Given the description of an element on the screen output the (x, y) to click on. 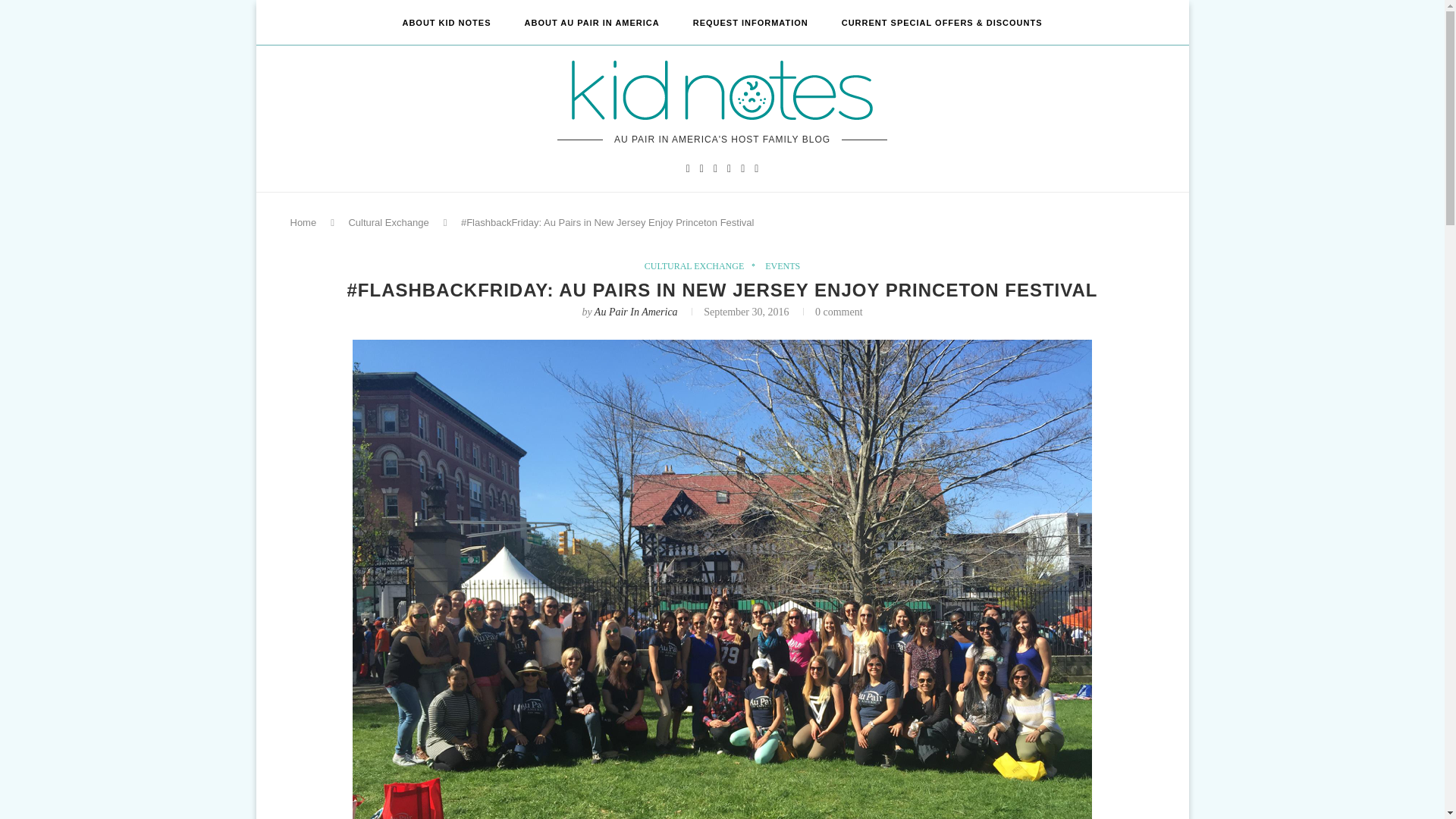
View all posts in Events (782, 266)
ABOUT KID NOTES (445, 22)
Home (302, 222)
View all posts in Cultural Exchange (698, 266)
CULTURAL EXCHANGE (698, 266)
Au Pair In America (636, 311)
Cultural Exchange (387, 222)
EVENTS (782, 266)
REQUEST INFORMATION (750, 22)
ABOUT AU PAIR IN AMERICA (591, 22)
